Given the description of an element on the screen output the (x, y) to click on. 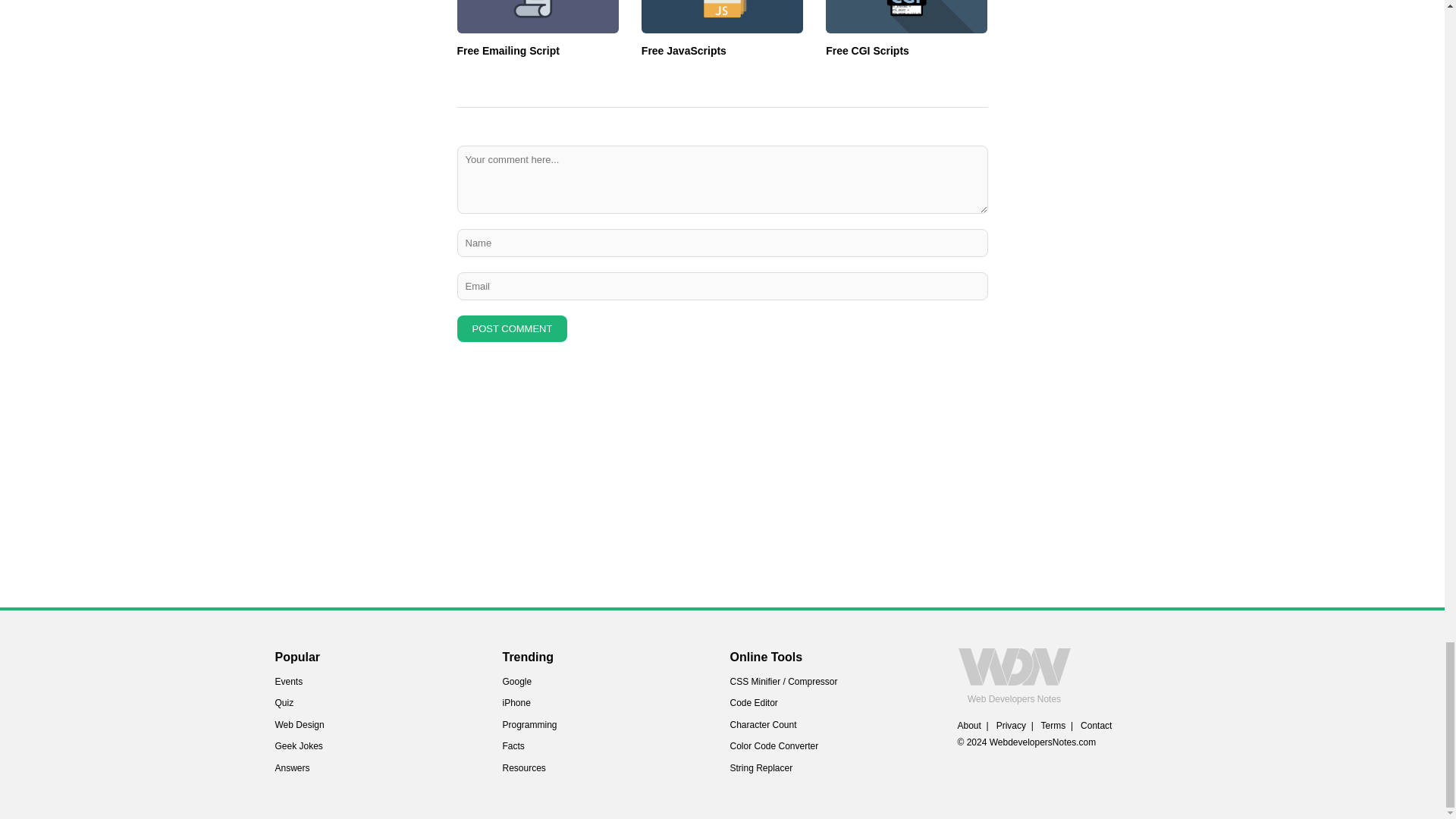
Free Emailing Script (508, 50)
